Given the description of an element on the screen output the (x, y) to click on. 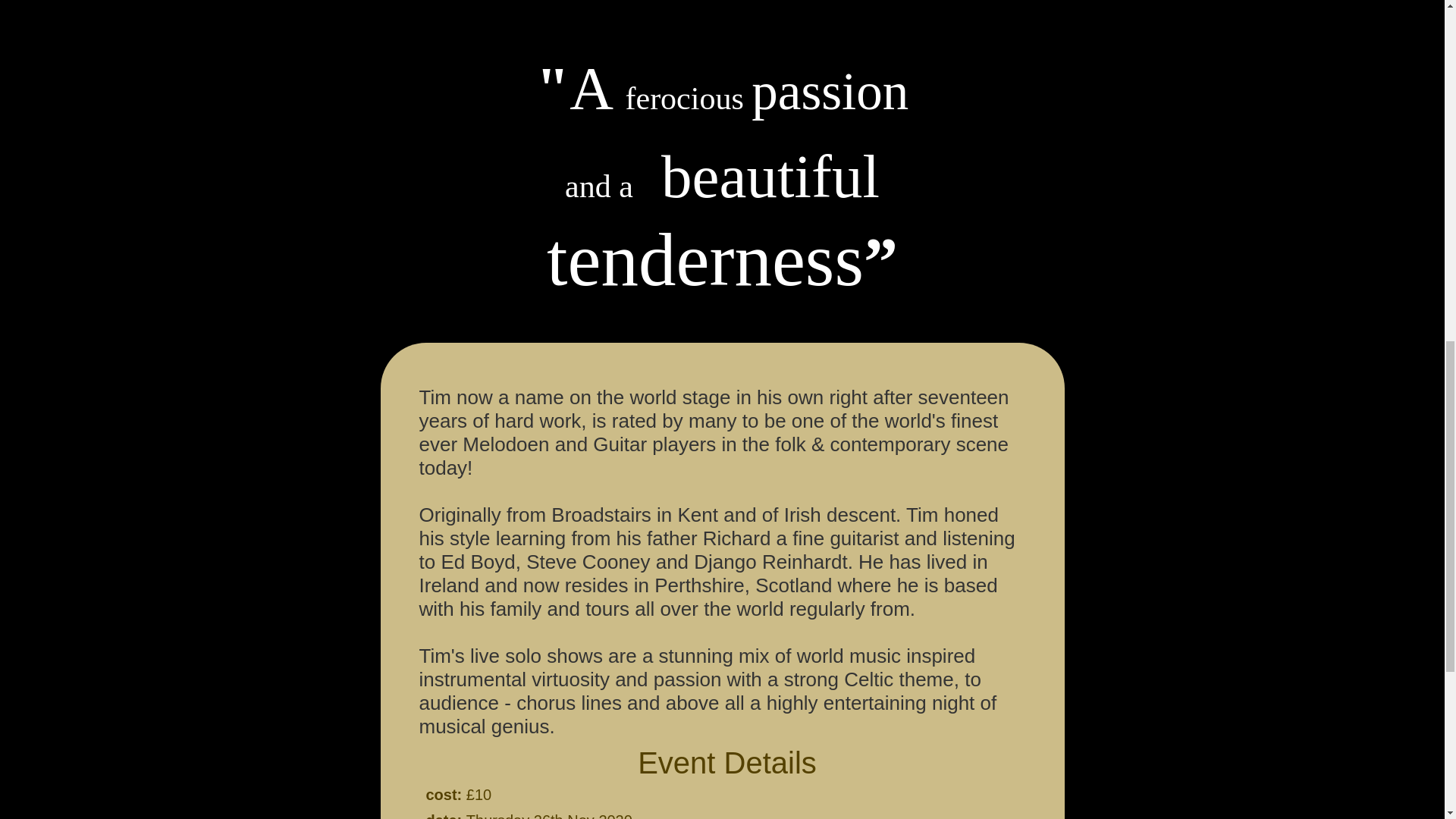
External YouTube (721, 8)
